Given the description of an element on the screen output the (x, y) to click on. 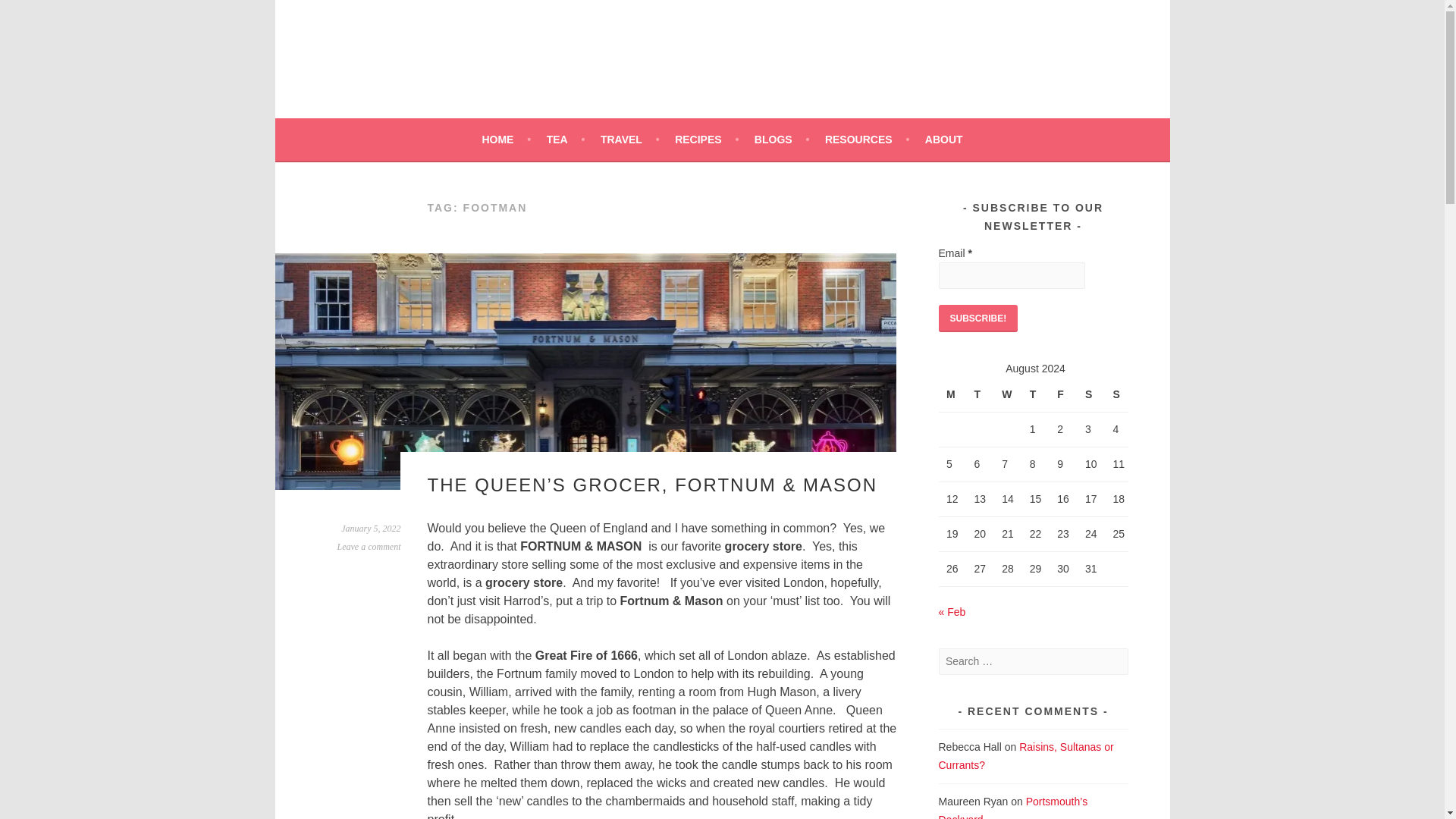
RESOURCES (866, 139)
Search (30, 13)
RECIPES (706, 139)
Email (1012, 275)
Subscribe! (978, 318)
January 5, 2022 (370, 528)
Raisins, Sultanas or Currants? (1026, 756)
Subscribe! (978, 318)
HOME (506, 139)
TEA, TOAST AND TRAVEL (498, 71)
ABOUT (943, 139)
Tea, Toast and Travel (498, 71)
TEA (566, 139)
BLOGS (781, 139)
Leave a comment (369, 546)
